Given the description of an element on the screen output the (x, y) to click on. 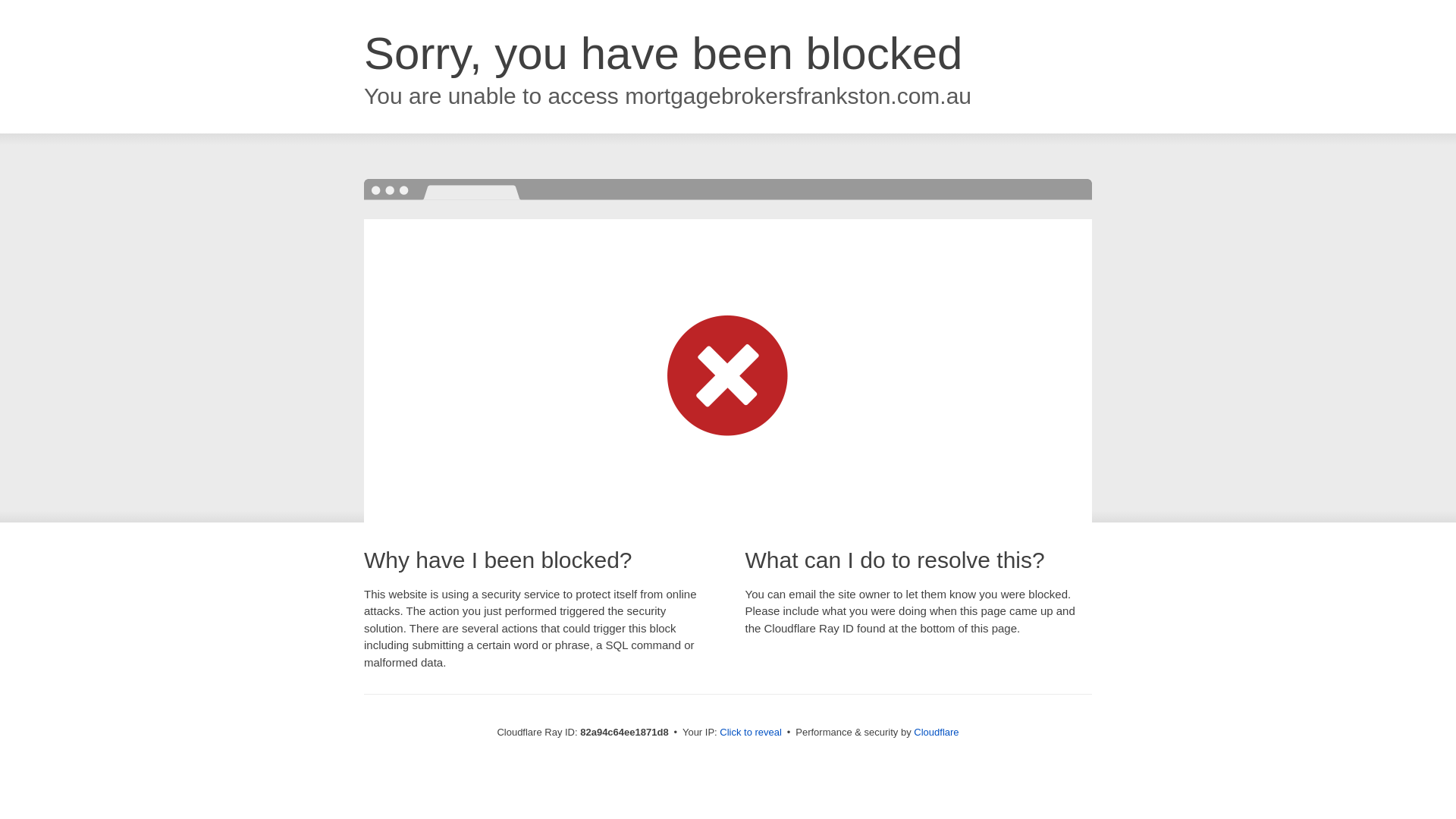
Cloudflare Element type: text (935, 731)
Click to reveal Element type: text (750, 732)
